Given the description of an element on the screen output the (x, y) to click on. 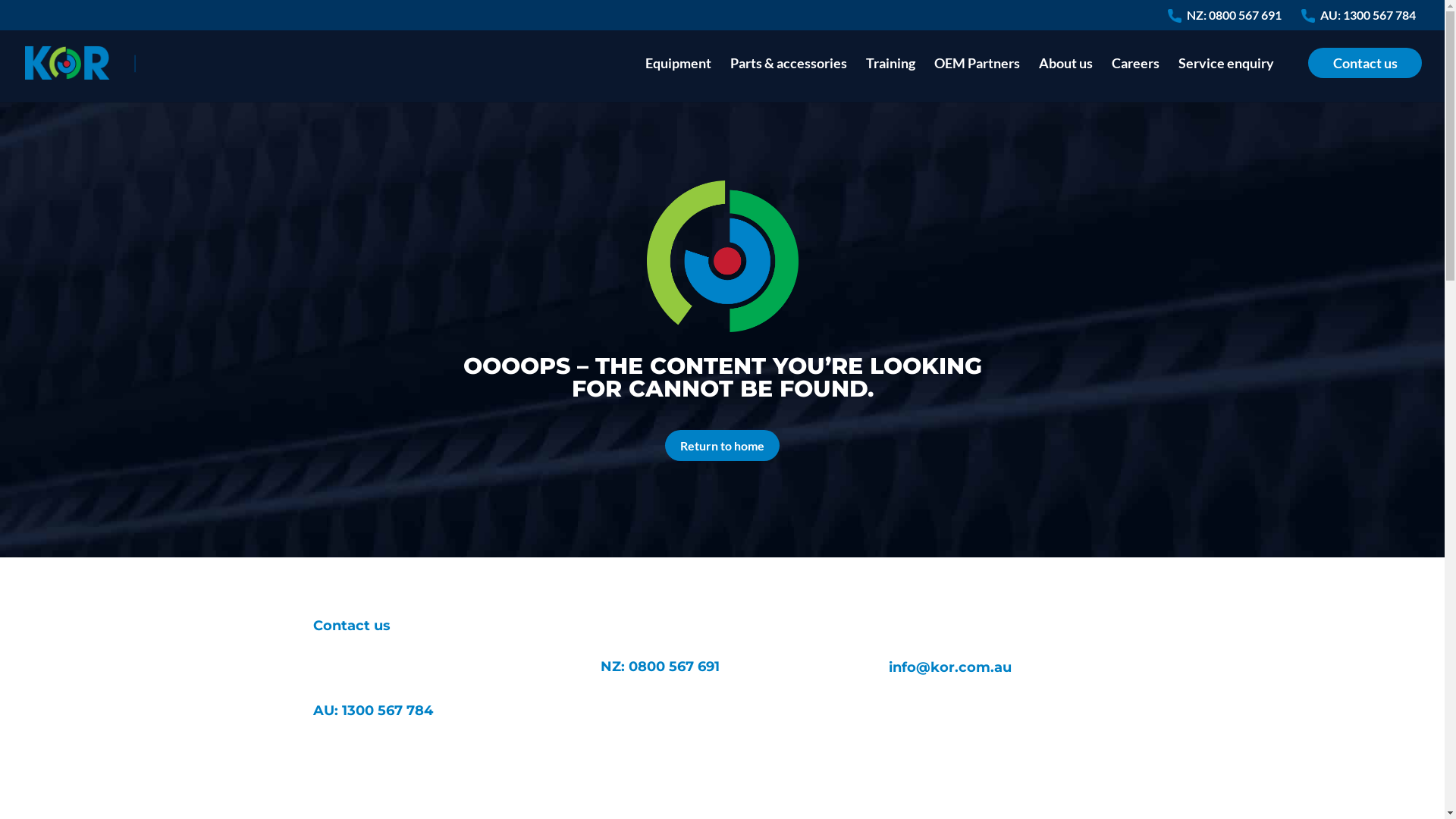
info@kor.com.au Element type: text (949, 666)
AU: 1300 567 784 Element type: text (372, 710)
Service enquiry Element type: text (1226, 79)
Follow on Youtube Element type: hover (415, 777)
Follow on Facebook Element type: hover (385, 777)
AU: 1300 567 784 Element type: text (1367, 19)
Parts & accessories Element type: text (788, 79)
OEM Partners Element type: text (976, 79)
KOR_favicon Element type: hover (721, 256)
Contact us Element type: text (1364, 79)
Training Element type: text (890, 79)
About us Element type: text (1065, 79)
Return to home Element type: text (722, 445)
Follow on LinkedIn Element type: hover (354, 777)
Equipment Element type: text (678, 79)
NZ: 0800 567 691 Element type: text (659, 666)
NZ: 0800 567 691 Element type: text (1233, 19)
Follow on Instagram Element type: hover (324, 777)
Careers Element type: text (1135, 79)
